Given the description of an element on the screen output the (x, y) to click on. 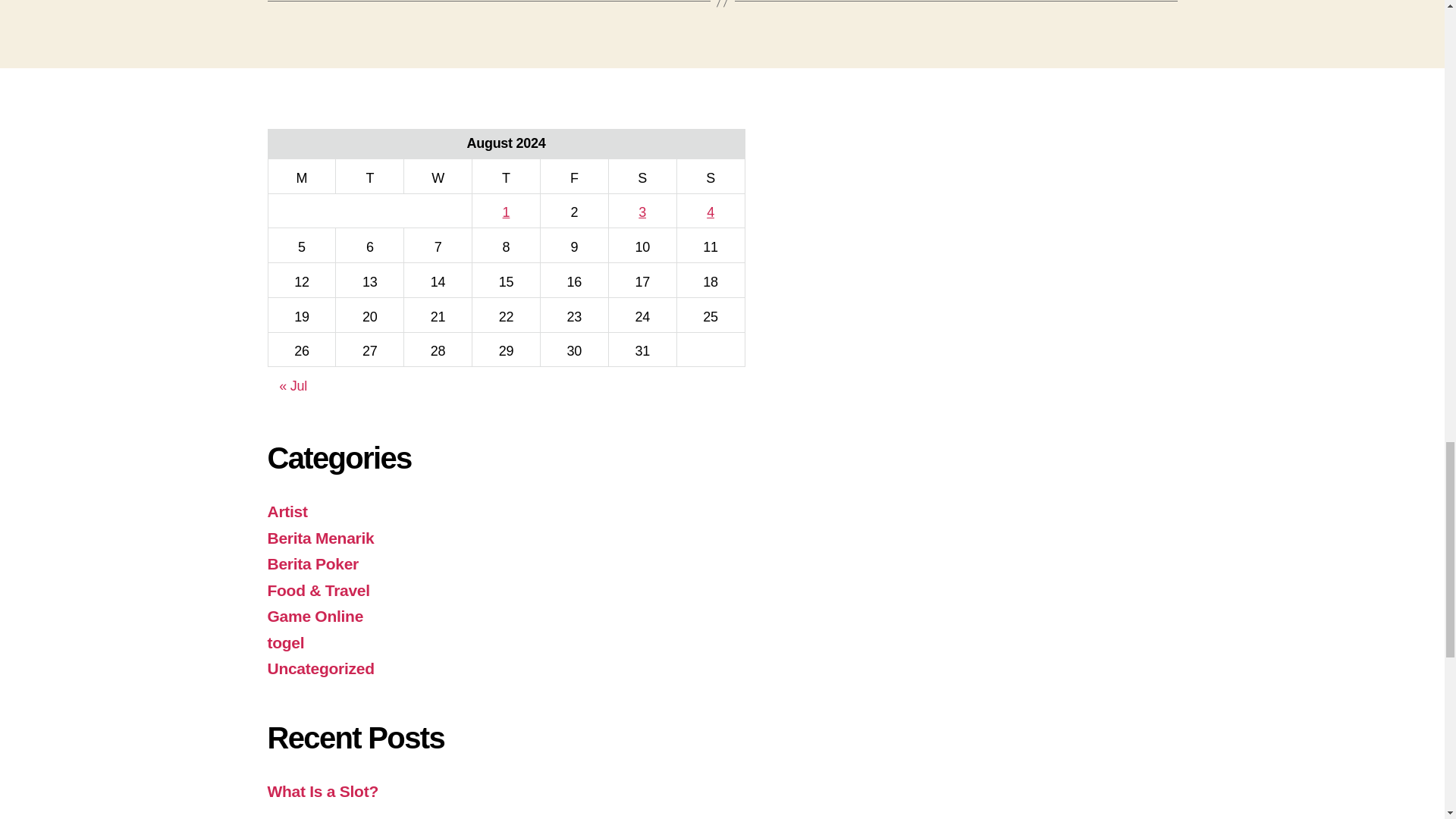
Friday (574, 176)
Thursday (505, 176)
Berita Poker (312, 563)
Sunday (710, 176)
Game Online (314, 615)
Wednesday (437, 176)
Saturday (642, 176)
Berita Menarik (320, 538)
Artist (286, 511)
Uncategorized (320, 668)
